Given the description of an element on the screen output the (x, y) to click on. 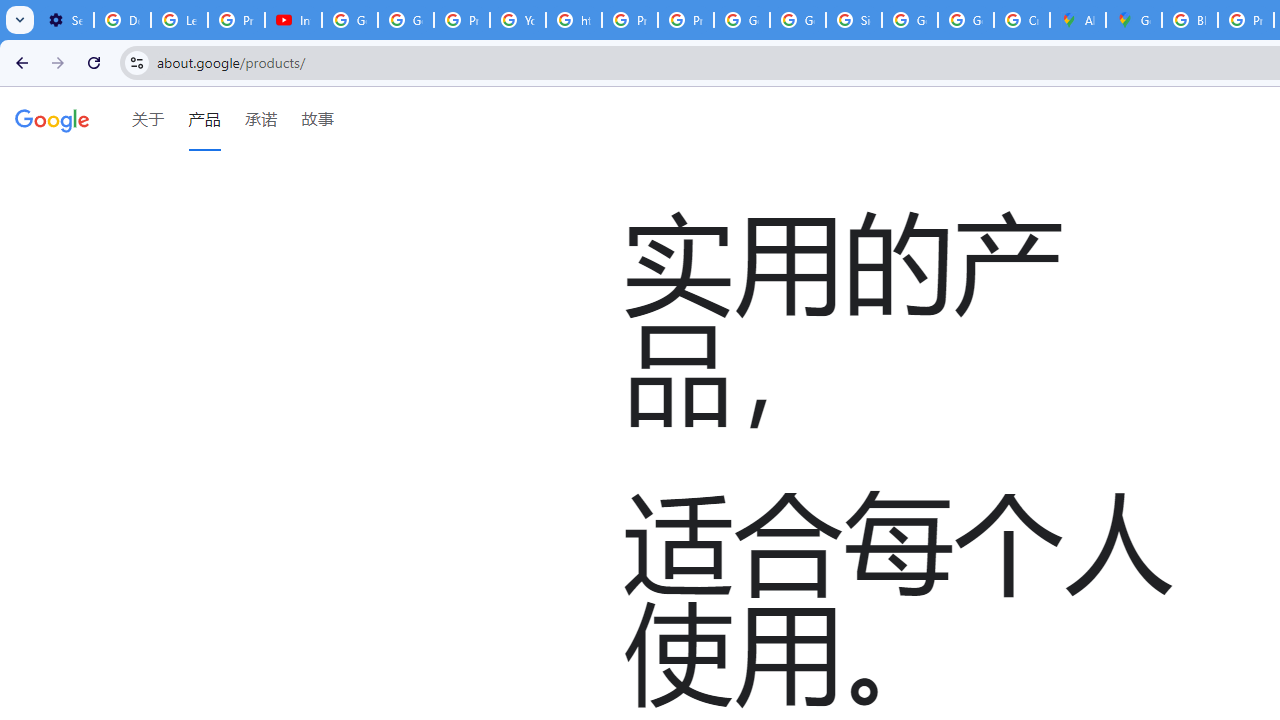
Google Account Help (349, 20)
Blogger Policies and Guidelines - Transparency Center (1190, 20)
Privacy Help Center - Policies Help (629, 20)
Delete photos & videos - Computer - Google Photos Help (122, 20)
Sign in - Google Accounts (853, 20)
Google Maps (1133, 20)
